Given the description of an element on the screen output the (x, y) to click on. 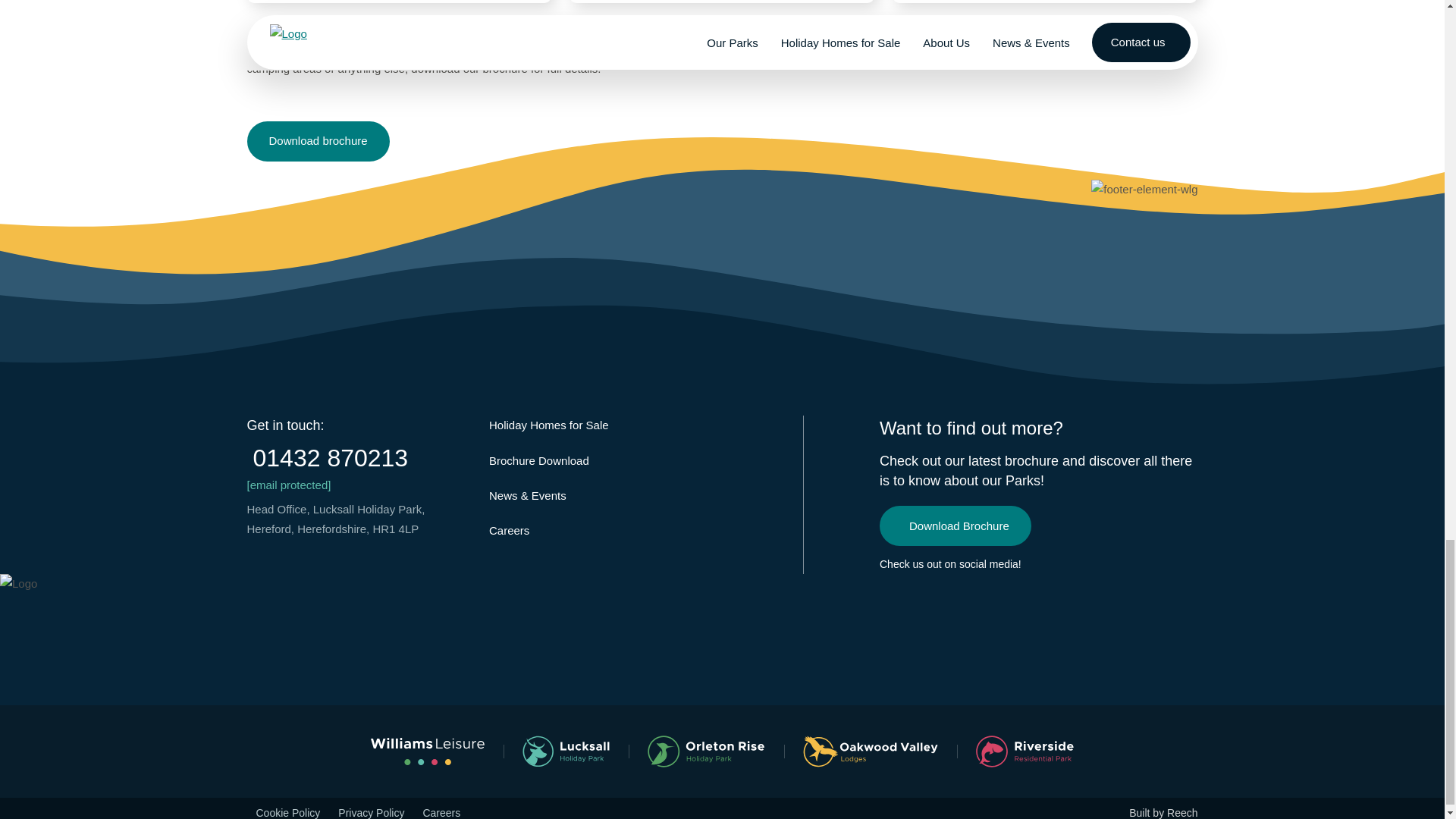
01432 870213 (359, 457)
Holiday Homes for Sale (548, 424)
Download Brochure (954, 526)
Full Service Marketing Agency (1162, 812)
Careers (509, 530)
Download brochure (318, 141)
